Given the description of an element on the screen output the (x, y) to click on. 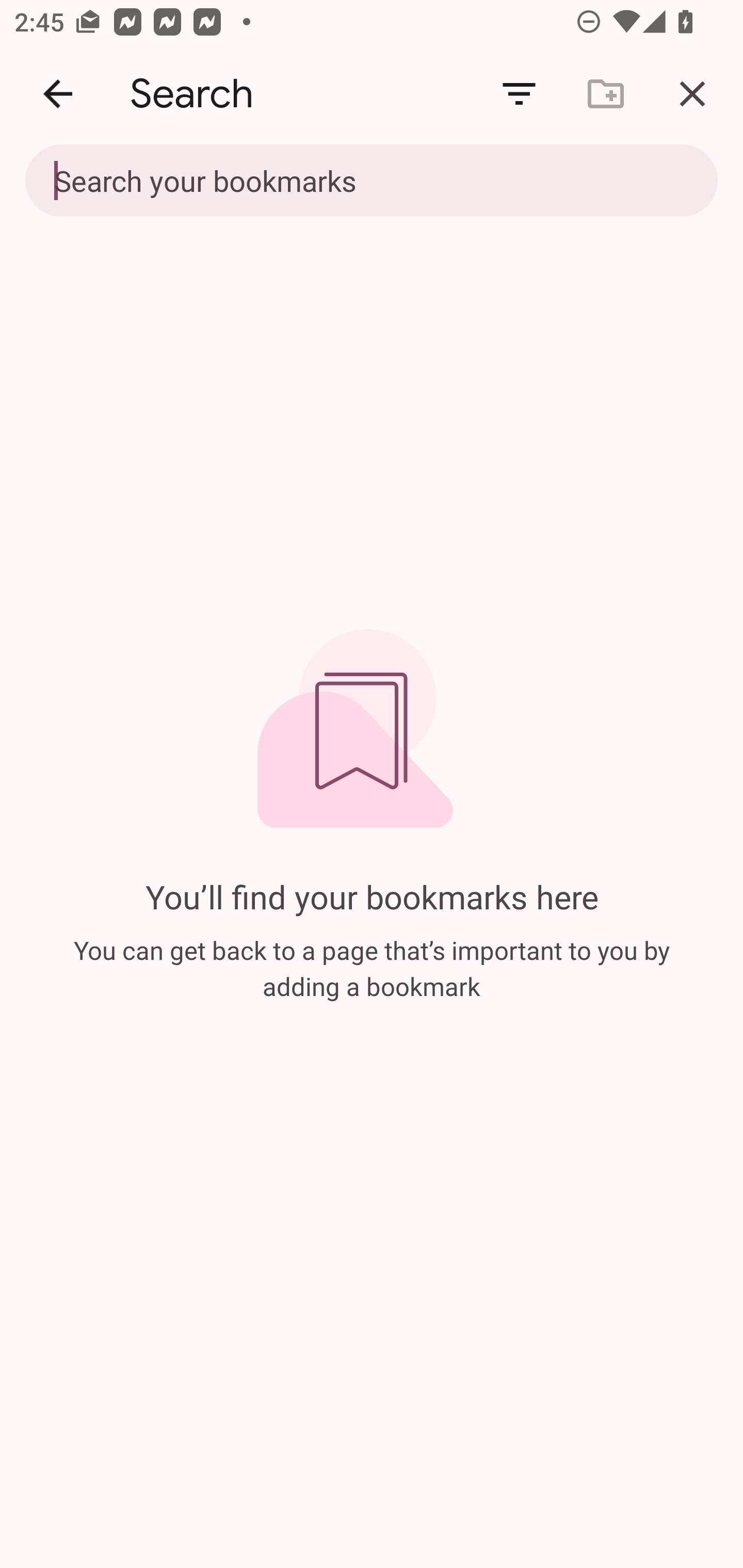
Go back (57, 93)
Sort and view options (518, 93)
Create new folder (605, 93)
Close dialog (692, 93)
Search your bookmarks (371, 181)
Search your bookmarks (327, 180)
